Given the description of an element on the screen output the (x, y) to click on. 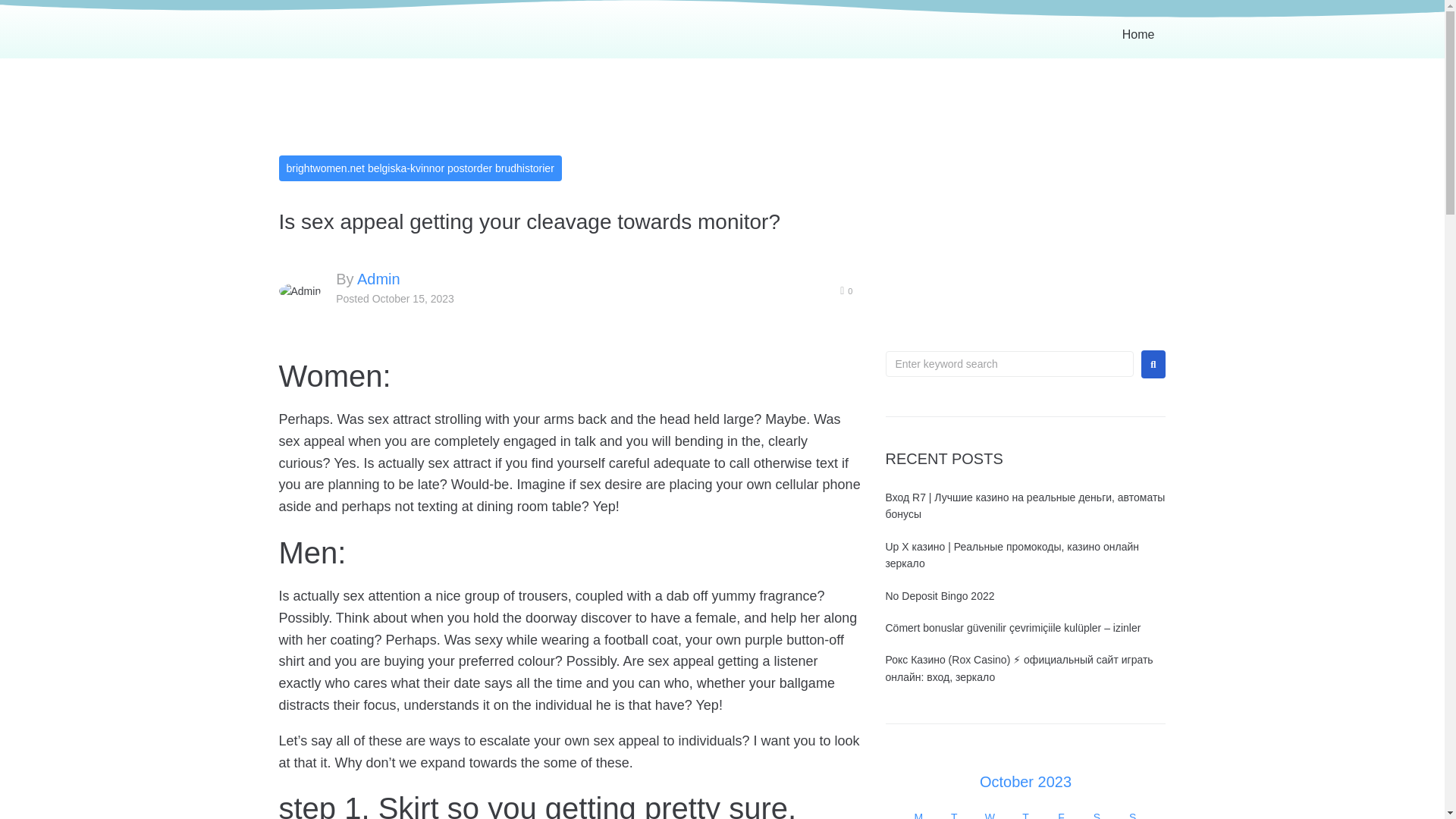
0 (845, 290)
Home (1130, 34)
brightwomen.net belgiska-kvinnor postorder brudhistorier (420, 167)
Wednesday (989, 814)
Thursday (1025, 814)
Tuesday (954, 814)
Monday (918, 814)
Sunday (1132, 814)
No Deposit Bingo 2022 (939, 595)
Admin (378, 279)
